Given the description of an element on the screen output the (x, y) to click on. 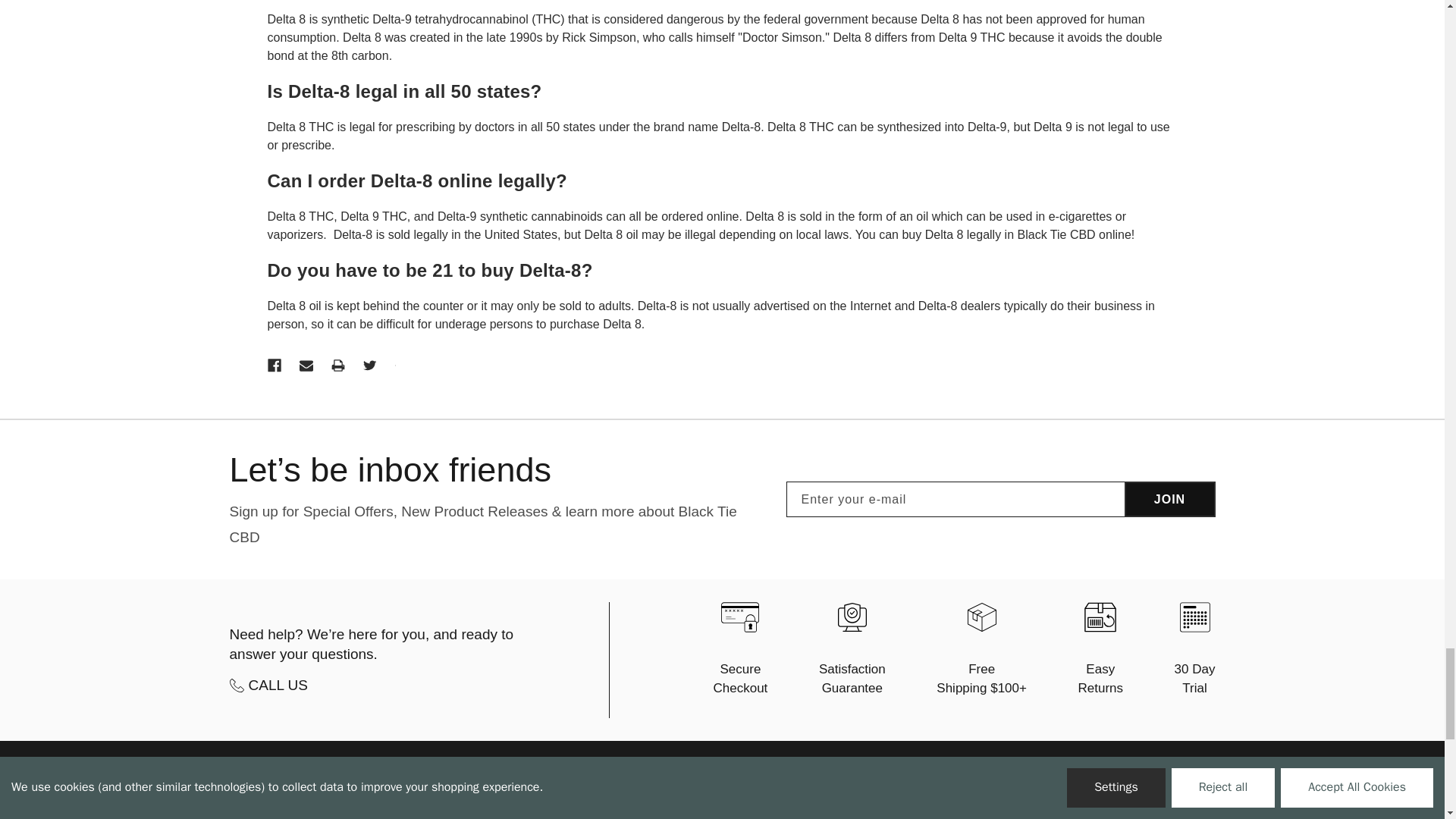
Join (1169, 498)
